Given the description of an element on the screen output the (x, y) to click on. 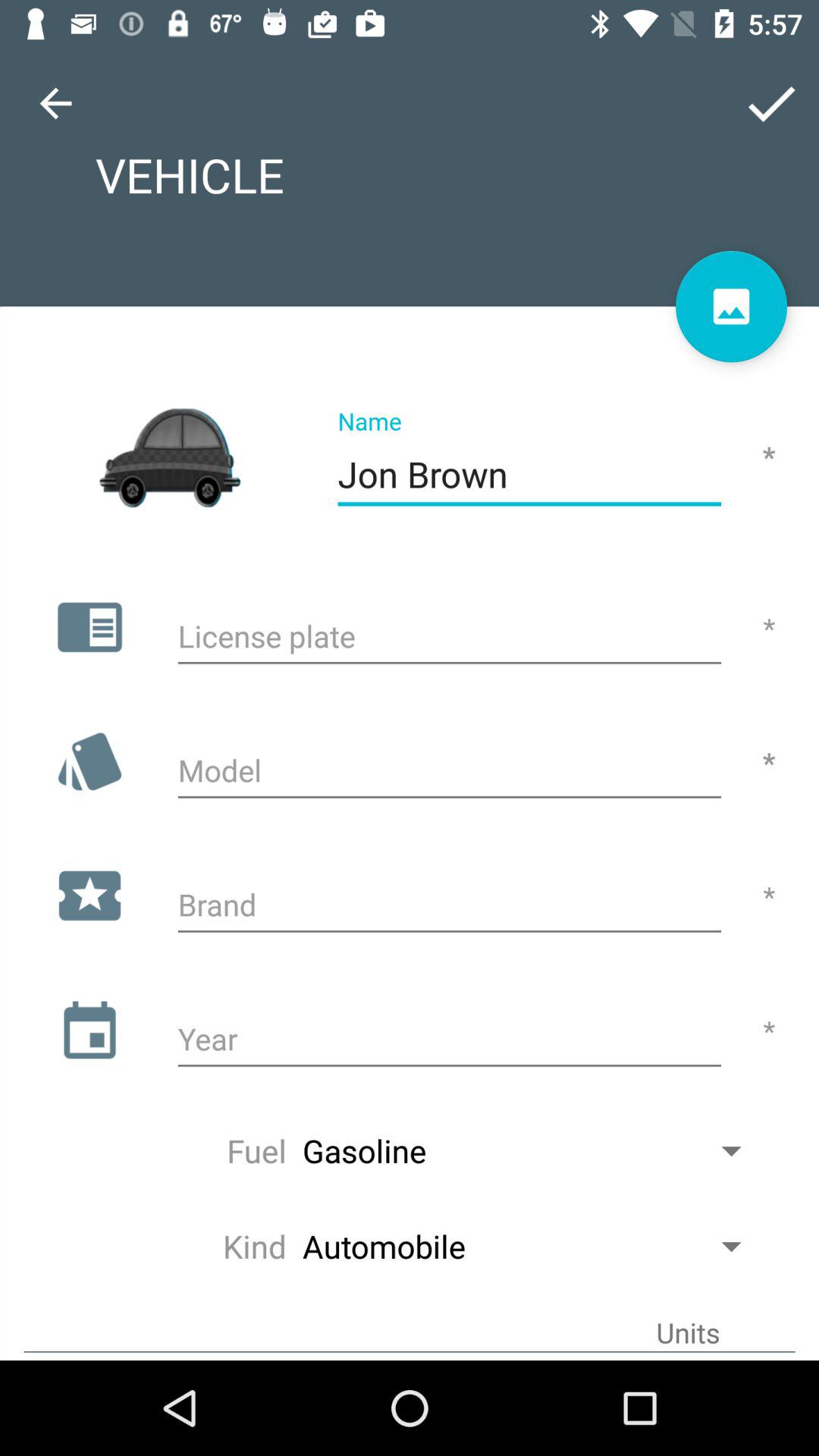
select profile picture (731, 306)
